Given the description of an element on the screen output the (x, y) to click on. 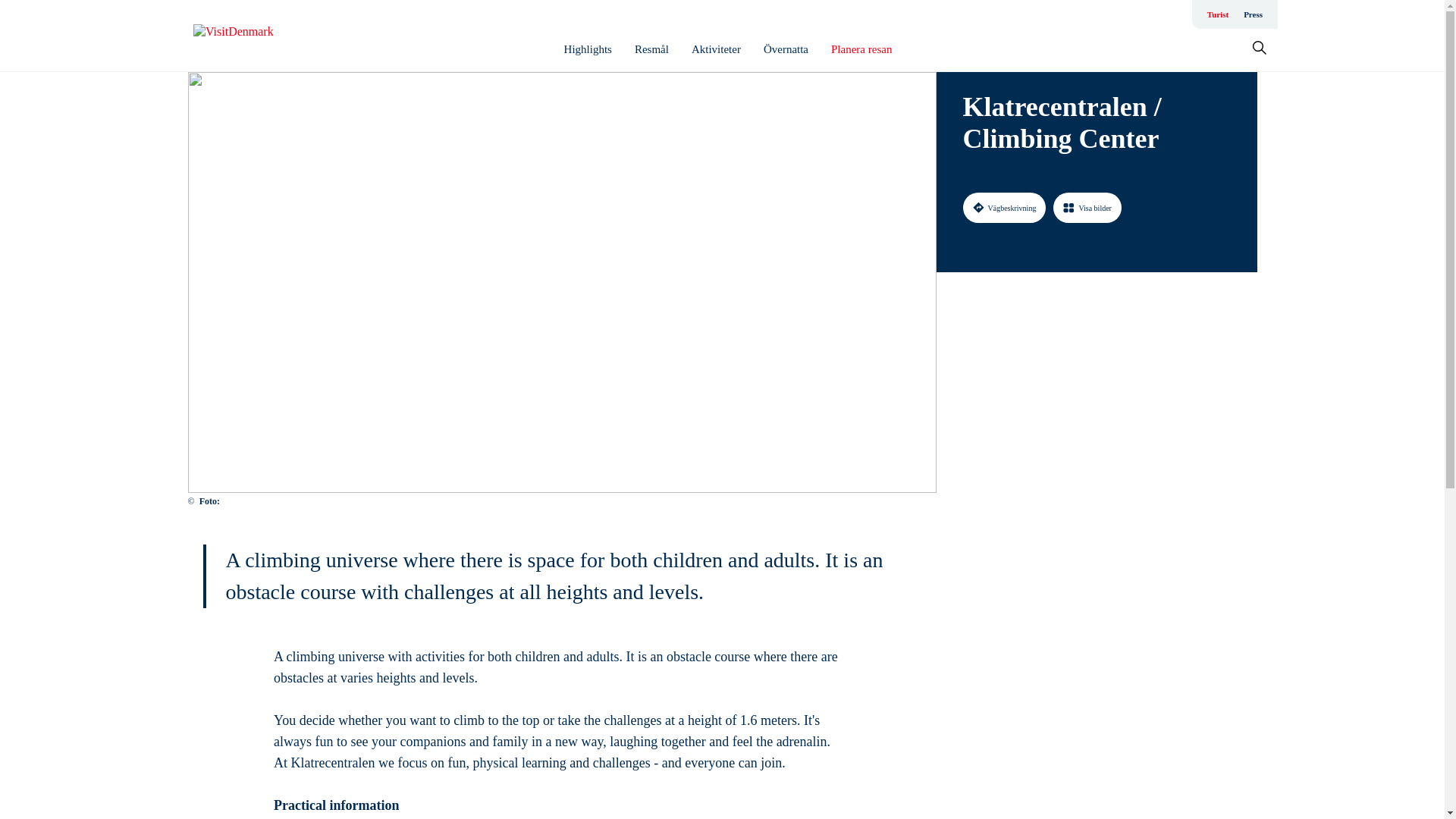
Planera resan (861, 49)
Aktiviteter (716, 49)
Go to homepage (253, 35)
Highlights (587, 49)
Visa bilder (1086, 207)
Press (1252, 14)
Turist (1217, 14)
